Given the description of an element on the screen output the (x, y) to click on. 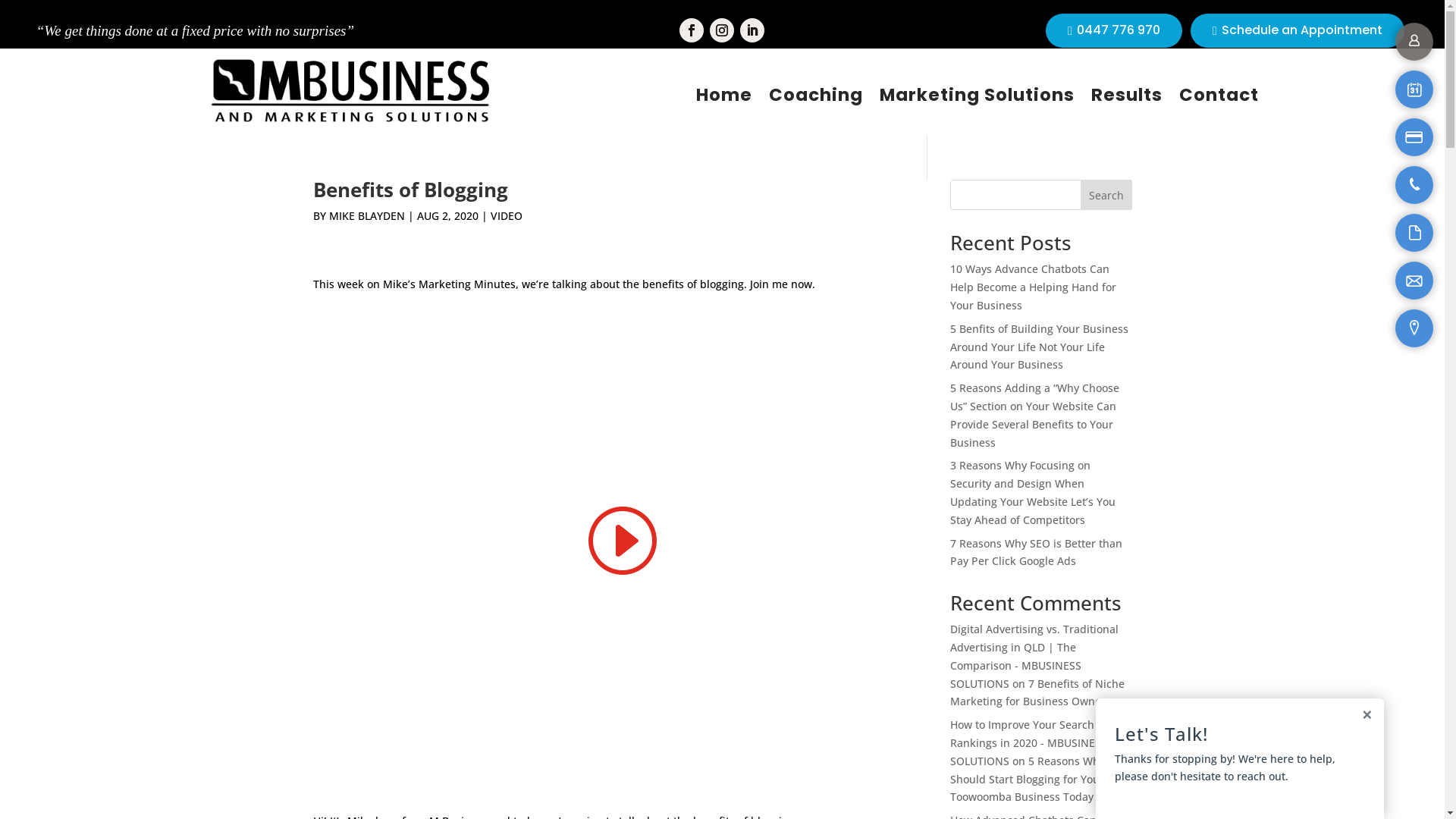
0447 776 970 Element type: text (1113, 30)
MIKE BLAYDEN Element type: text (366, 215)
Follow on Instagram Element type: hover (721, 30)
Marketing Solutions Element type: text (976, 94)
Schedule an Appointment Element type: text (1296, 30)
Home Element type: text (724, 94)
Follow on LinkedIn Element type: hover (752, 30)
Benefits of Blogging Element type: hover (619, 537)
Contact Element type: text (1218, 94)
7 Benefits of Niche Marketing for Business Owners Element type: text (1036, 692)
Follow on Facebook Element type: hover (691, 30)
7 Reasons Why SEO is Better than Pay Per Click Google Ads Element type: text (1035, 552)
Coaching Element type: text (815, 94)
VIDEO Element type: text (505, 215)
Results Element type: text (1126, 94)
Search Element type: text (1106, 194)
